Given the description of an element on the screen output the (x, y) to click on. 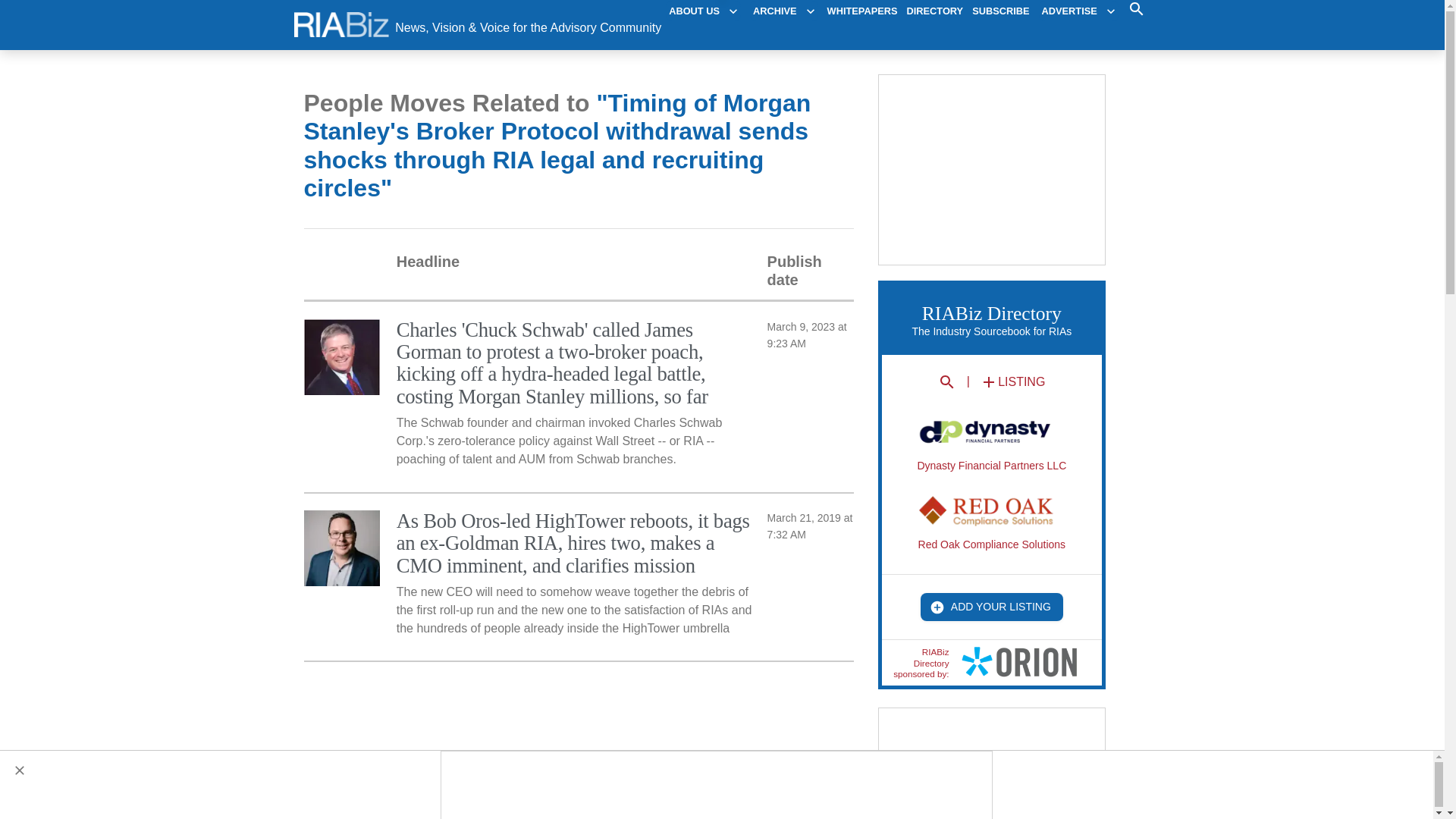
3rd party ad content (992, 763)
LISTING (1012, 382)
SUBSCRIBE (1000, 10)
Dynasty Financial Partners LLC (991, 442)
ADD YOUR LISTING (991, 606)
3rd party ad content (992, 169)
Red Oak Compliance Solutions (991, 522)
3rd party ad content (716, 785)
DIRECTORY (935, 10)
